Given the description of an element on the screen output the (x, y) to click on. 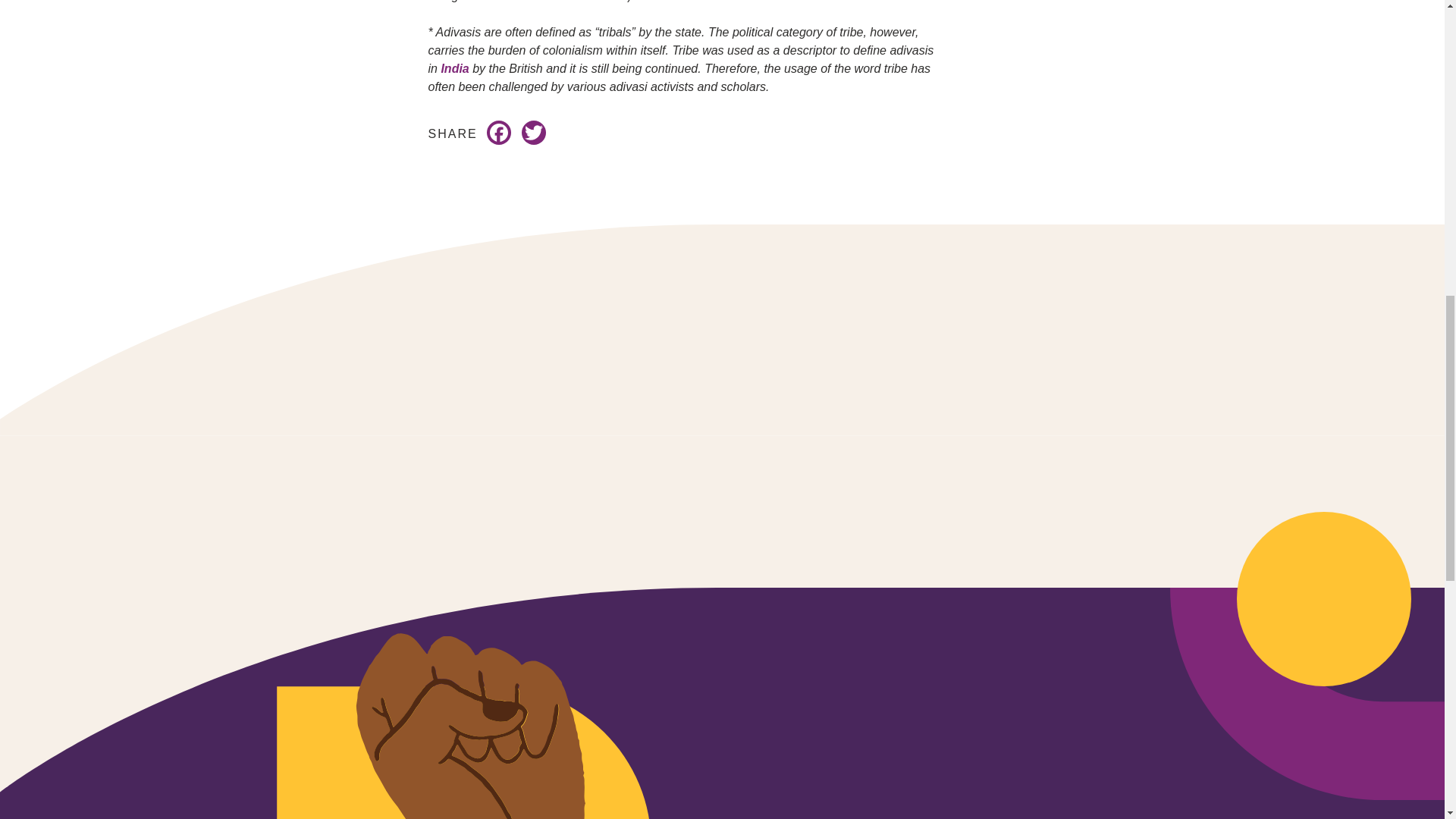
Facebook (498, 134)
India (454, 68)
Twitter (533, 134)
